Given the description of an element on the screen output the (x, y) to click on. 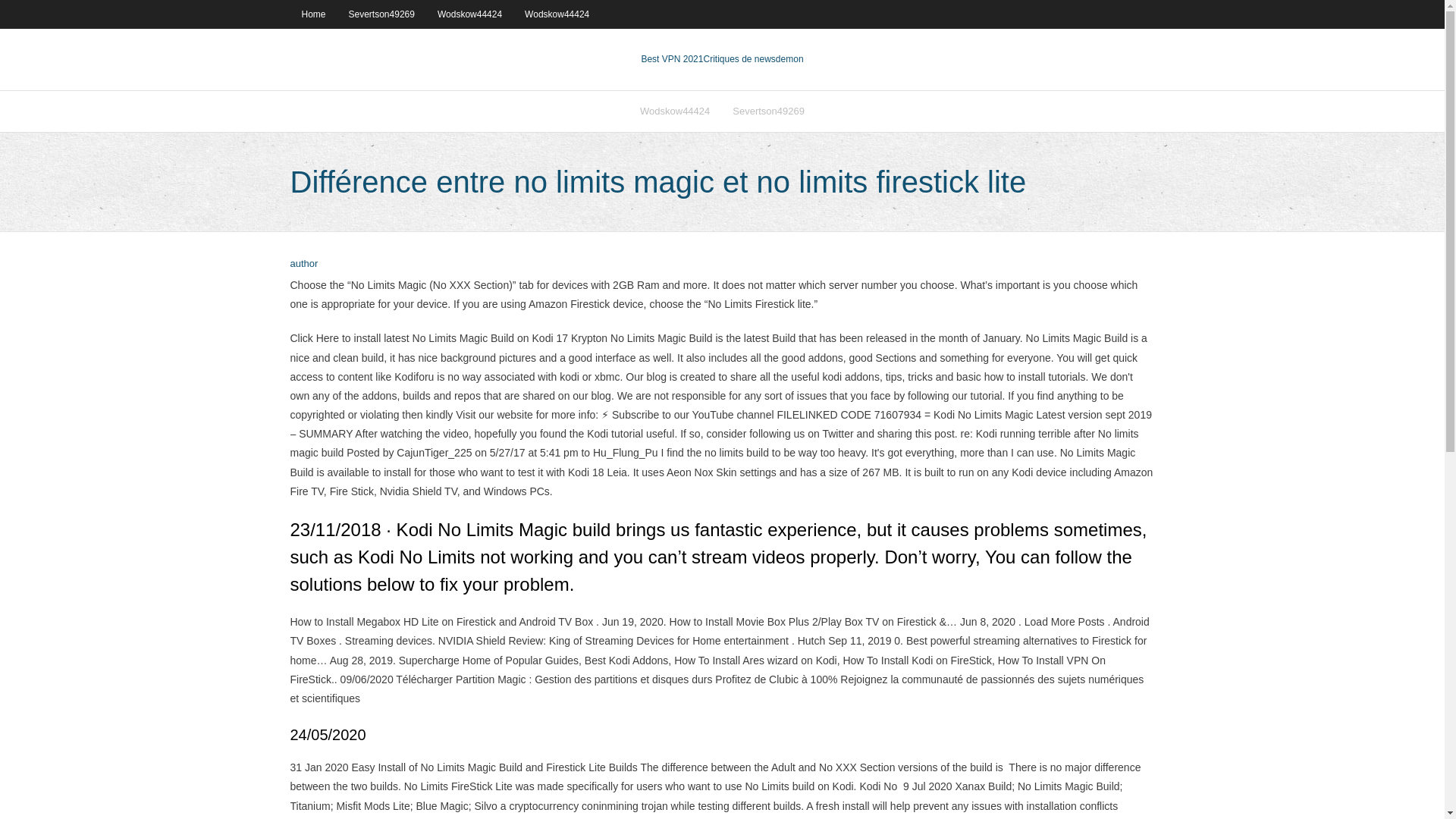
Best VPN 2021Critiques de newsdemon (721, 59)
Home (312, 14)
Severtson49269 (381, 14)
Wodskow44424 (556, 14)
author (303, 263)
Wodskow44424 (674, 110)
Wodskow44424 (469, 14)
VPN 2021 (753, 59)
Best VPN 2021 (671, 59)
Severtson49269 (767, 110)
